Given the description of an element on the screen output the (x, y) to click on. 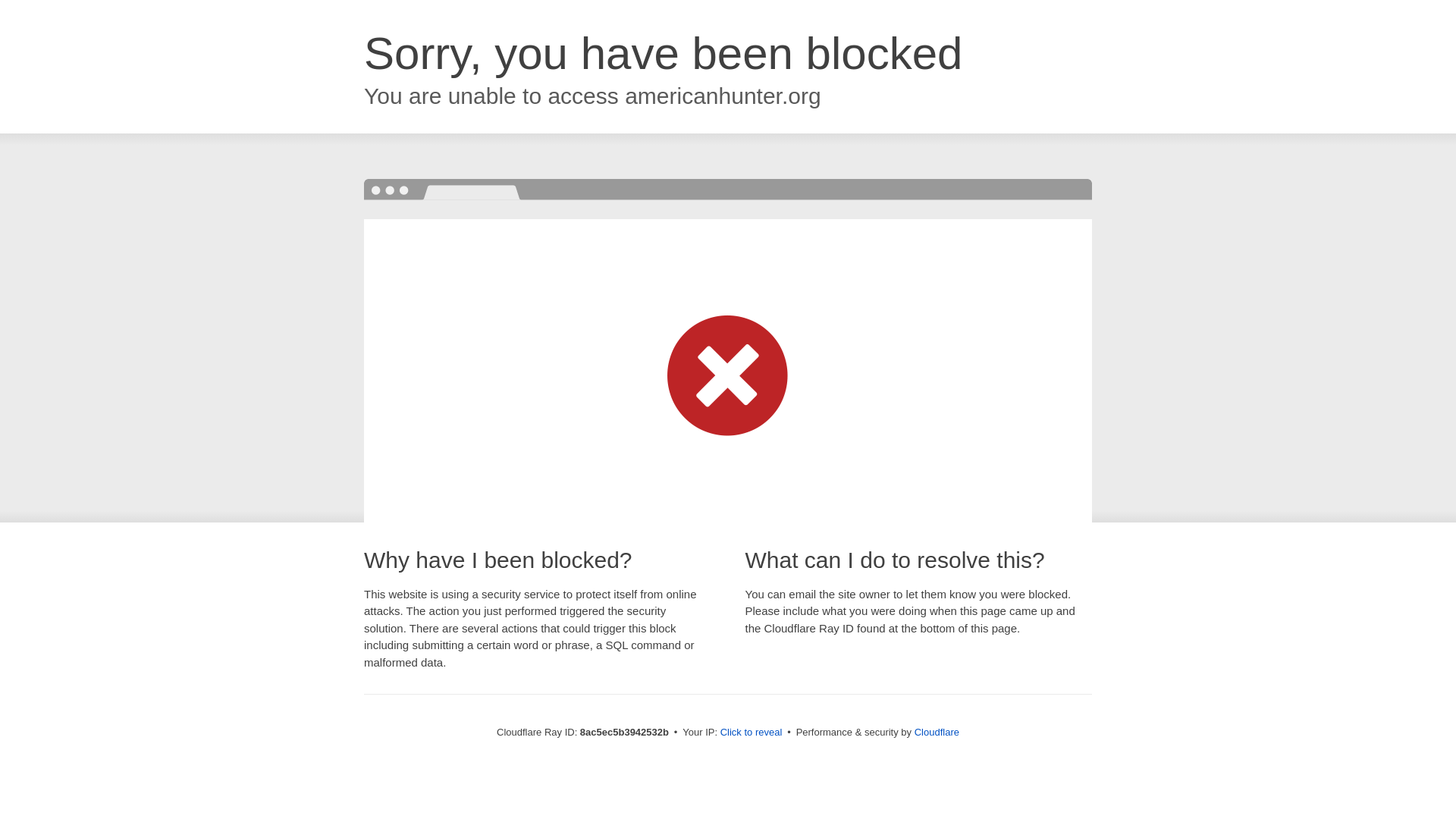
Click to reveal (751, 732)
Cloudflare (936, 731)
